Given the description of an element on the screen output the (x, y) to click on. 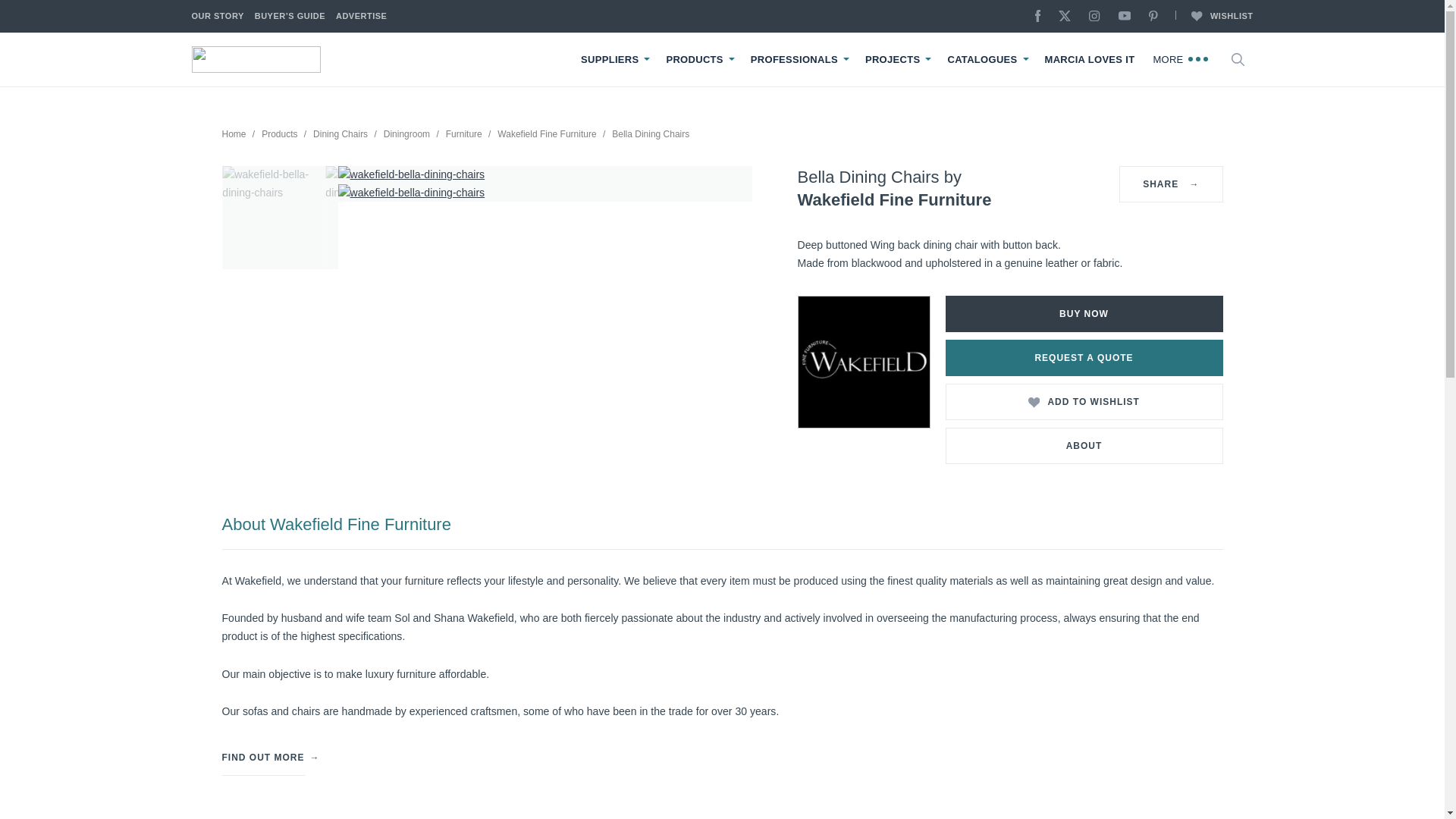
ADVERTISE (361, 16)
Logo (255, 58)
WISHLIST (1213, 16)
SUPPLIERS (609, 60)
OUR STORY (216, 16)
